Given the description of an element on the screen output the (x, y) to click on. 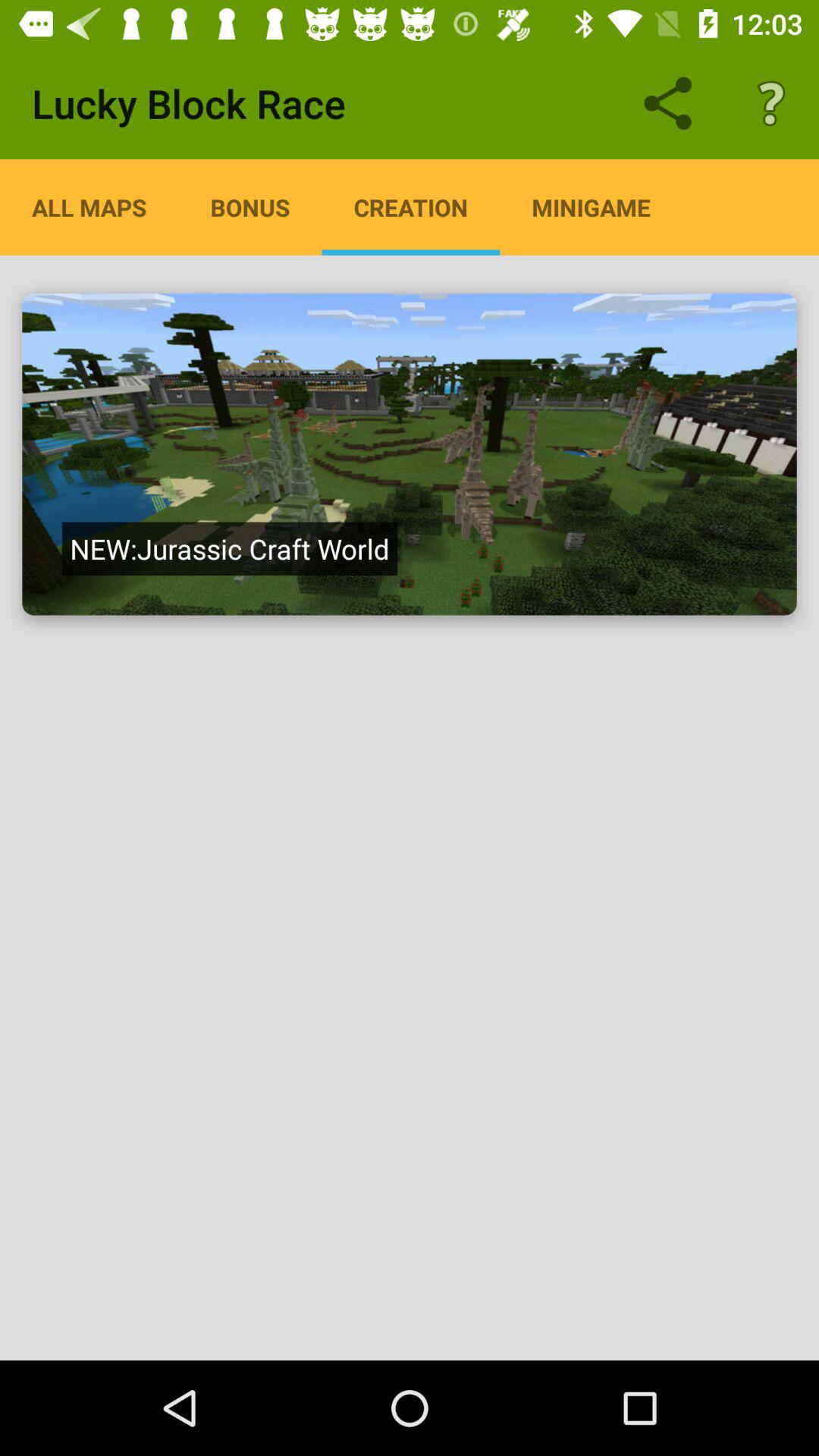
tap the creation app (410, 207)
